Given the description of an element on the screen output the (x, y) to click on. 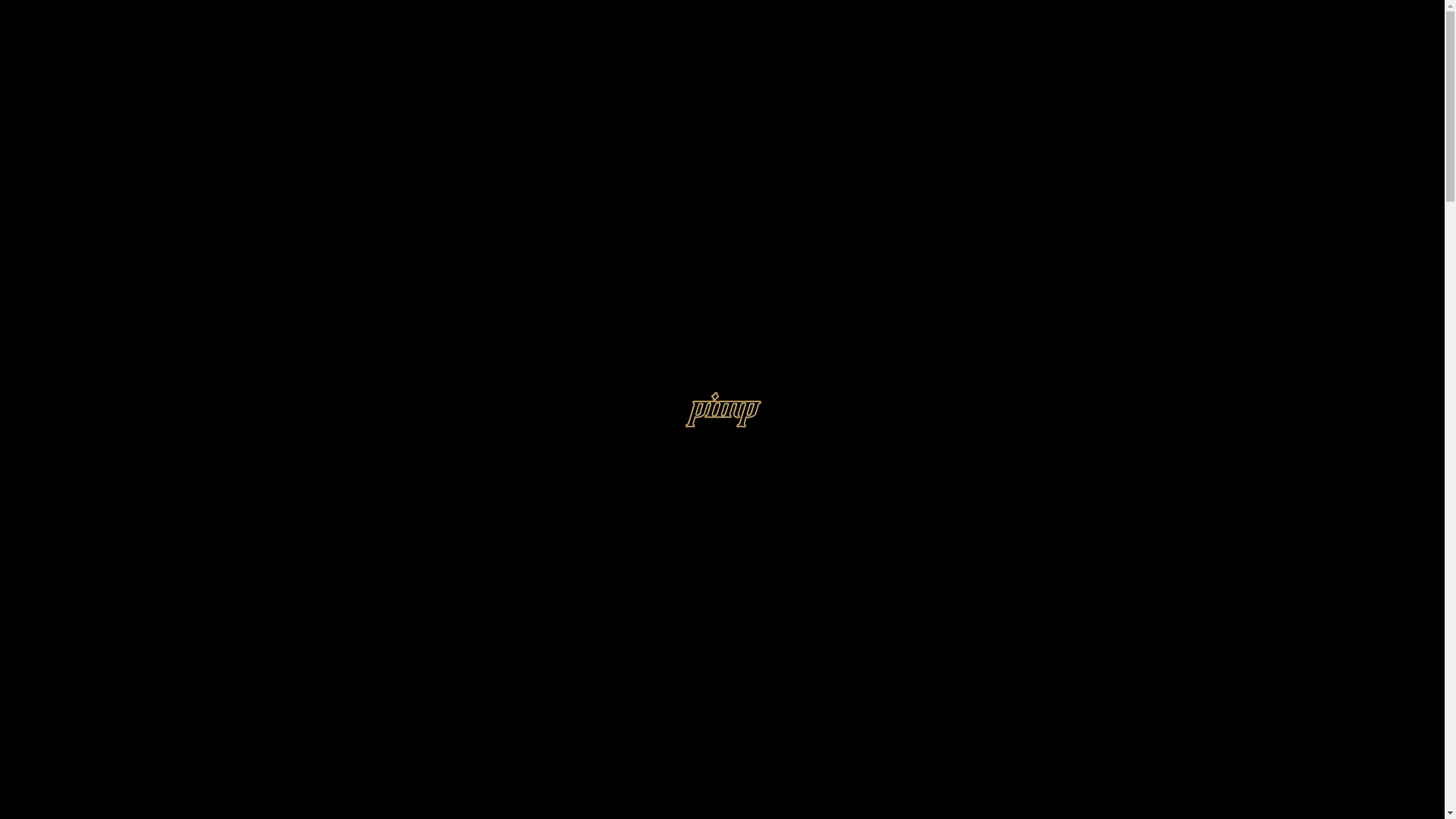
PIMPJUICE Element type: text (766, 70)
DISTRIBUTION Element type: text (1022, 13)
BEER Element type: text (1065, 70)
COLA Element type: text (918, 70)
CONTACT Element type: text (1082, 13)
TONIC WATER Element type: text (849, 70)
SHOP Element type: text (970, 13)
WHISKEY COLA Element type: text (585, 70)
BLOG Element type: text (1124, 13)
PIMP ENERGY Element type: text (683, 70)
VODKA Element type: text (1115, 70)
ABOUT Element type: text (933, 13)
ICE TEA Element type: text (1014, 70)
SODA Element type: text (963, 70)
HOME Element type: text (893, 13)
